Given the description of an element on the screen output the (x, y) to click on. 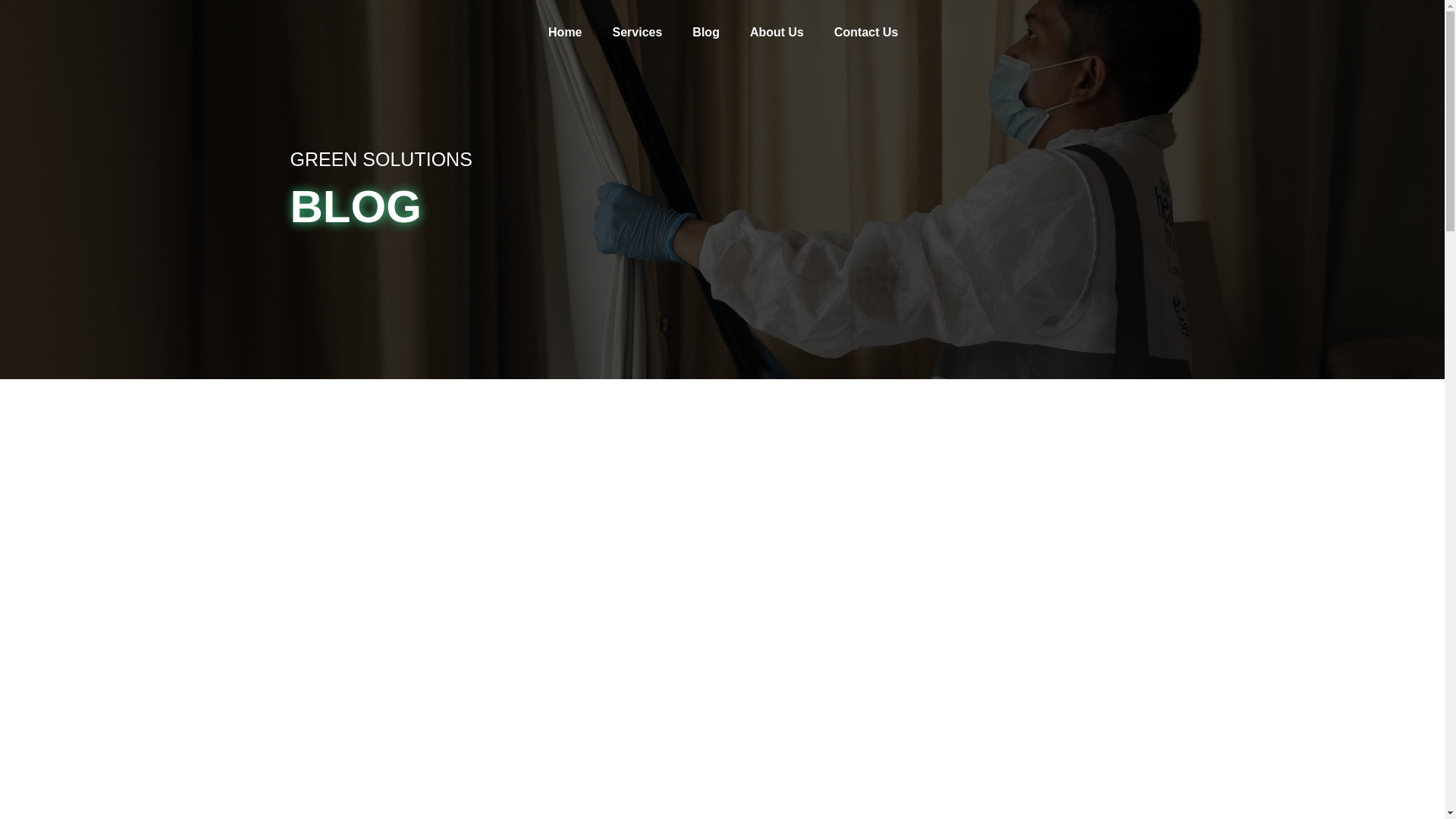
Home (564, 32)
About Us (776, 32)
Contact Us (865, 32)
Services (637, 32)
Blog (706, 32)
